Given the description of an element on the screen output the (x, y) to click on. 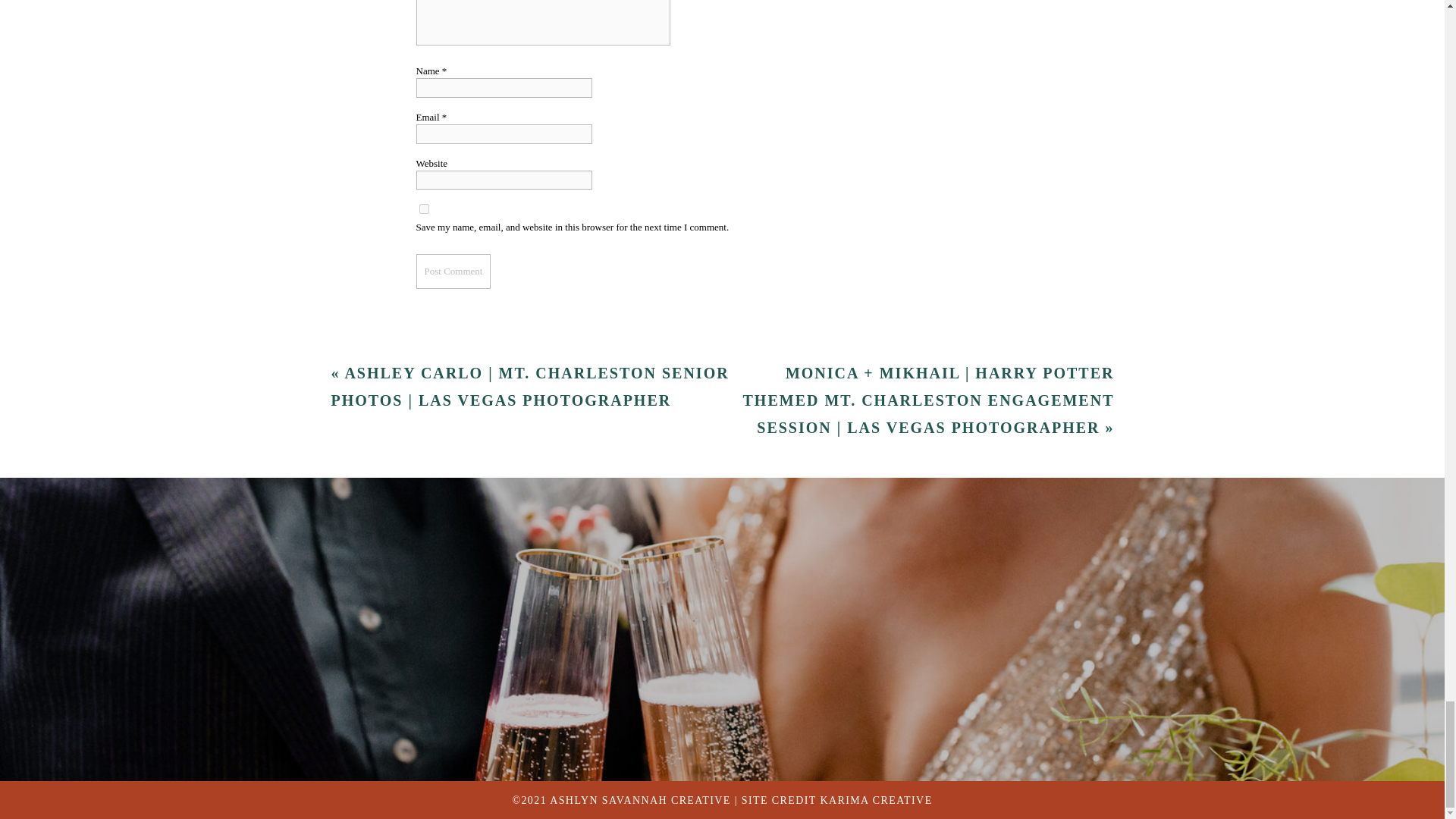
yes (423, 208)
Post Comment (452, 270)
Post Comment (452, 270)
